Given the description of an element on the screen output the (x, y) to click on. 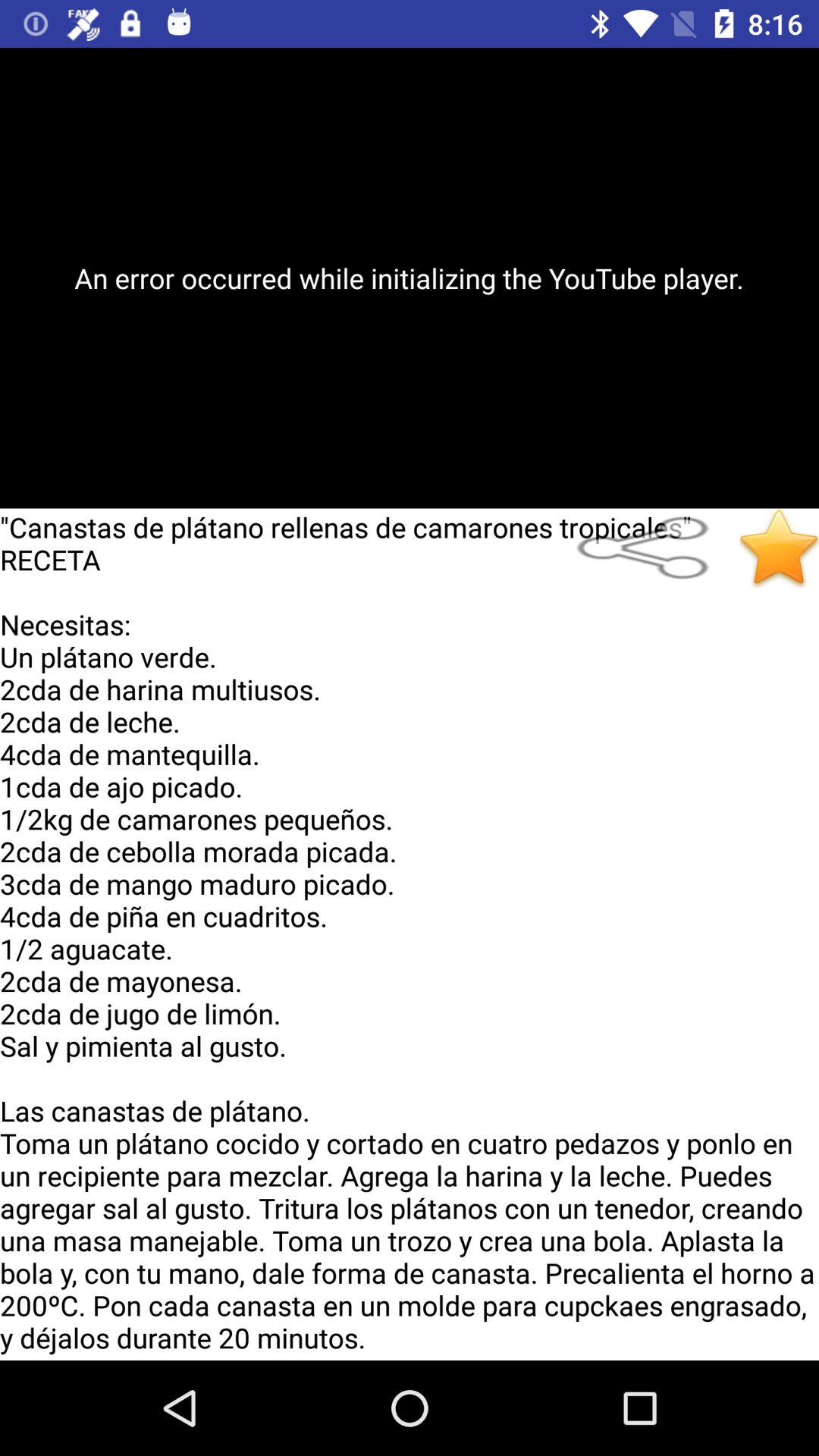
click app below an error occurred item (651, 548)
